Given the description of an element on the screen output the (x, y) to click on. 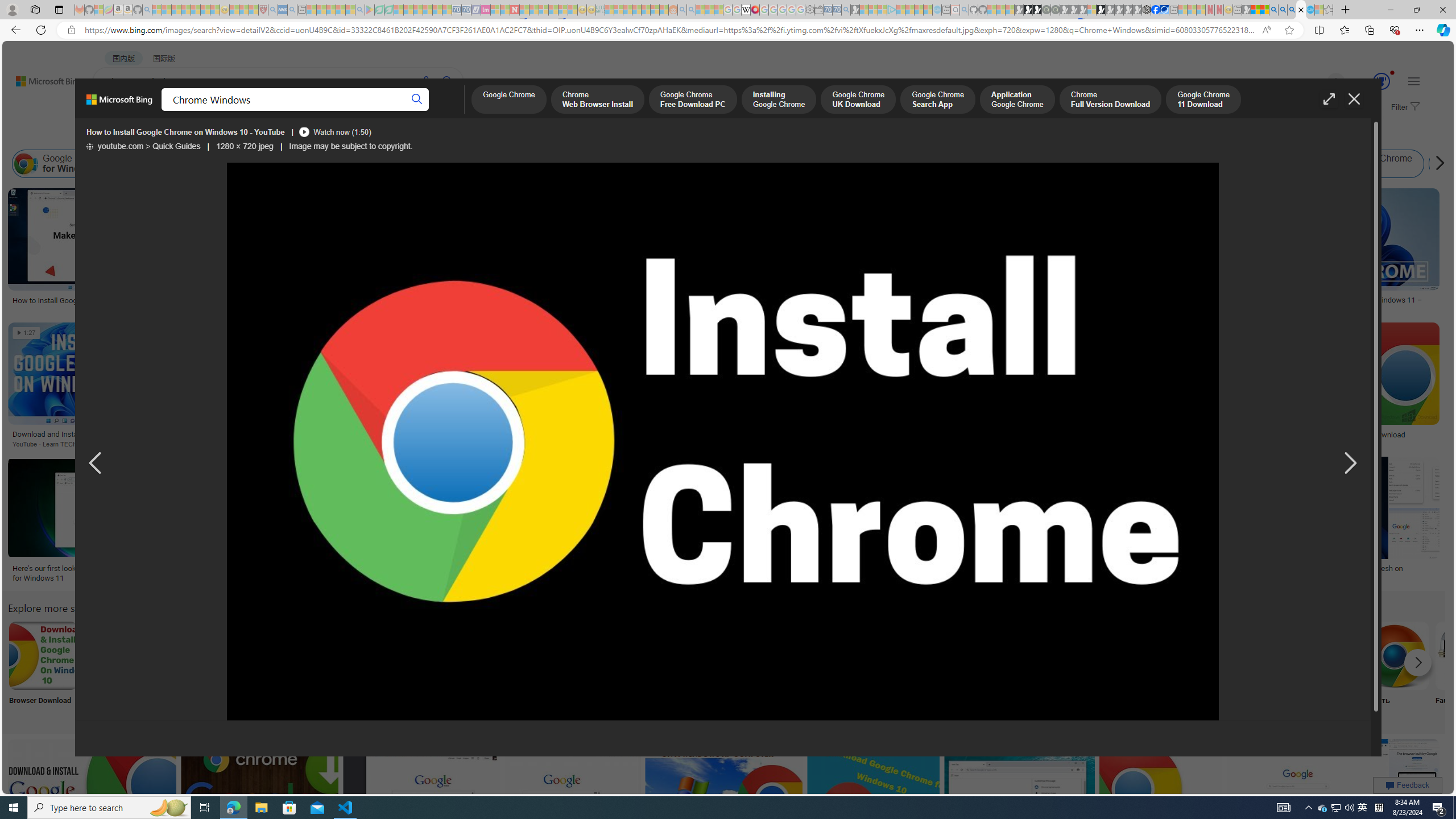
Use Google (1243, 669)
How To Download And Install Google Chrome On Windows (987, 434)
MediaWiki (754, 9)
Desktop Computer (418, 669)
1:46 (1090, 198)
Chrome Computer Chrome Computer (1319, 669)
How to download google chrome on windows 10 - bombver (280, 573)
Chrome Browser Download Browser Download (42, 669)
How To Download And Install Google Chrome On Windows 10 (623, 438)
MSN - Sleeping (1246, 9)
